Given the description of an element on the screen output the (x, y) to click on. 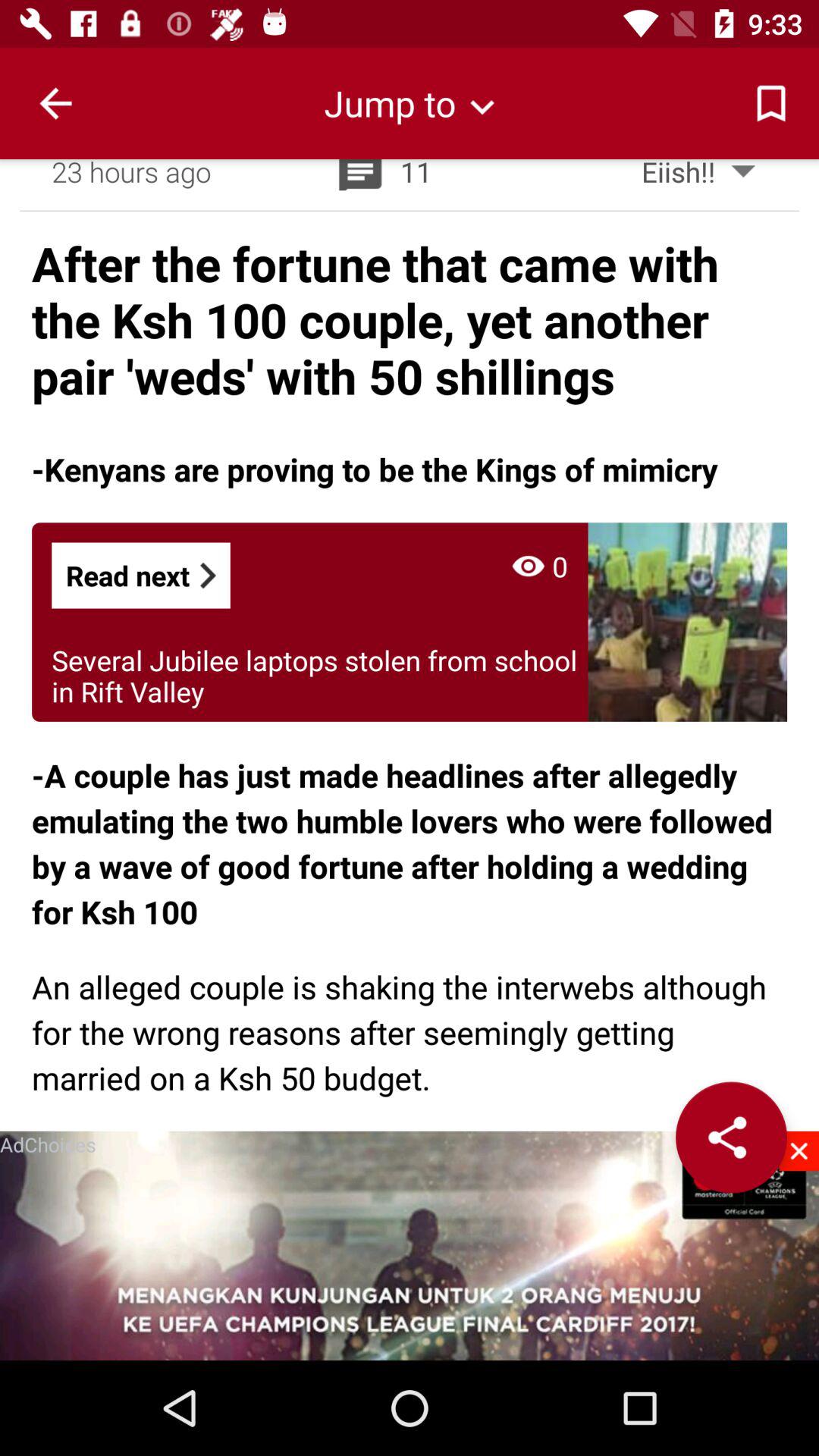
select the an alleged couple (409, 1032)
